Given the description of an element on the screen output the (x, y) to click on. 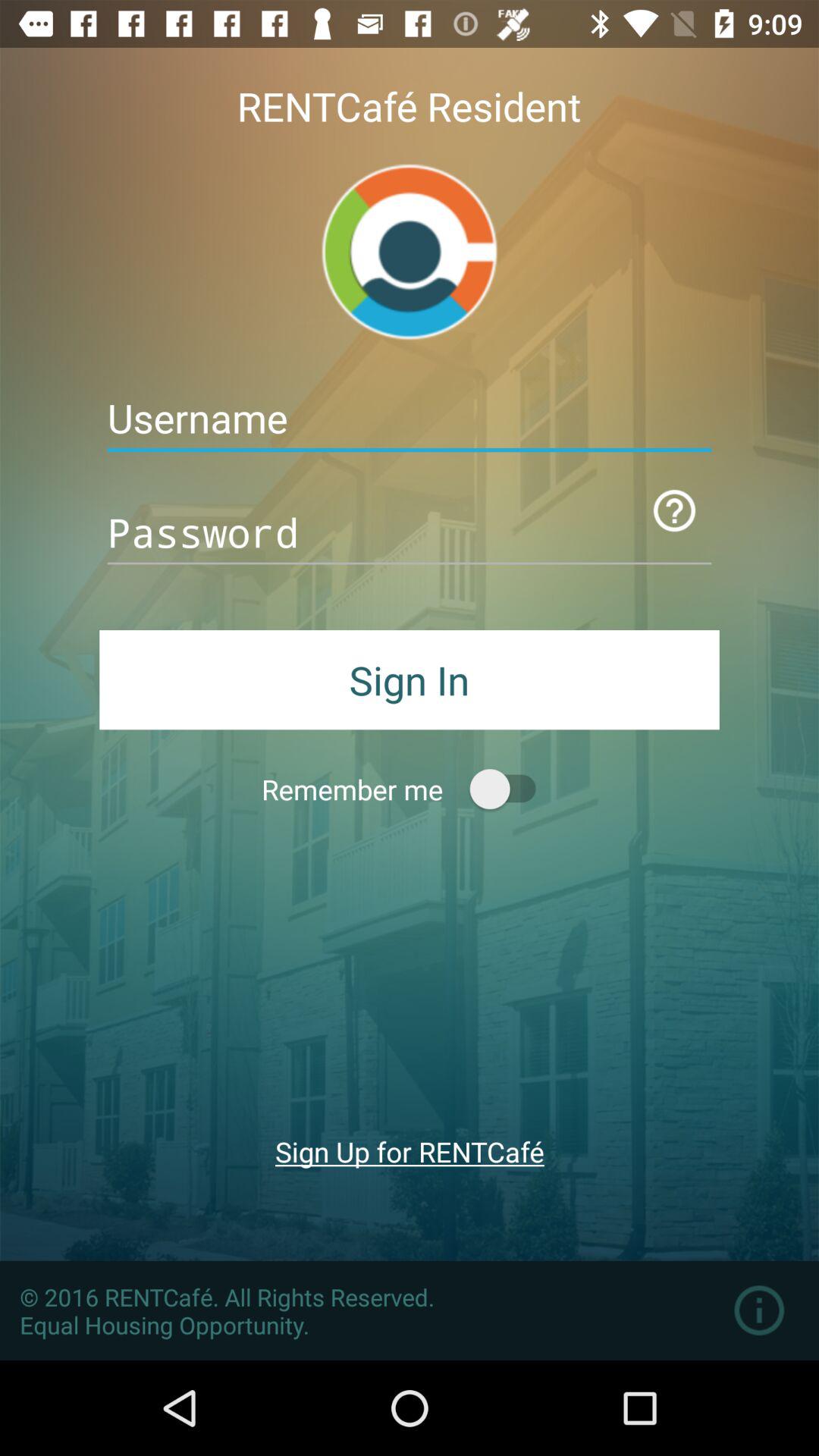
click to the more information (759, 1310)
